Given the description of an element on the screen output the (x, y) to click on. 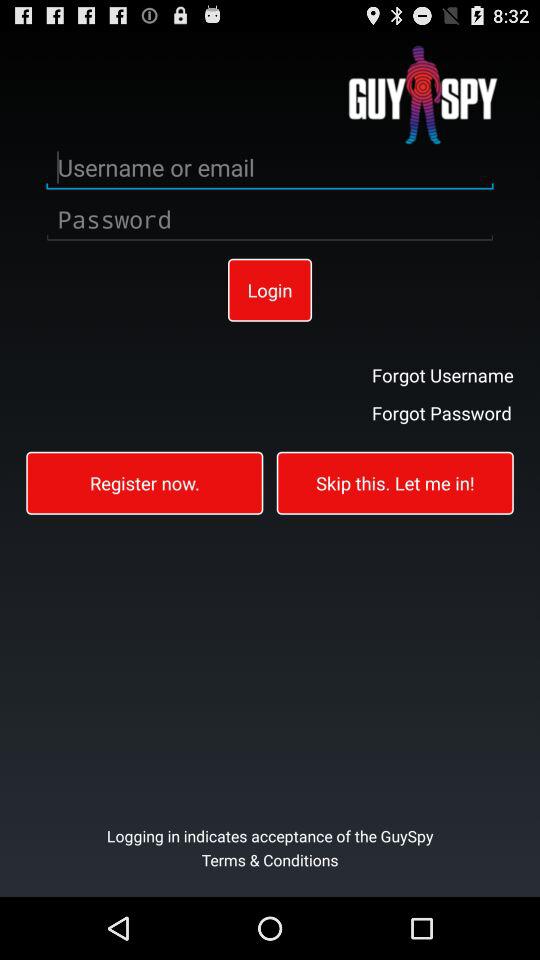
press the button to the right of register now. icon (394, 482)
